Given the description of an element on the screen output the (x, y) to click on. 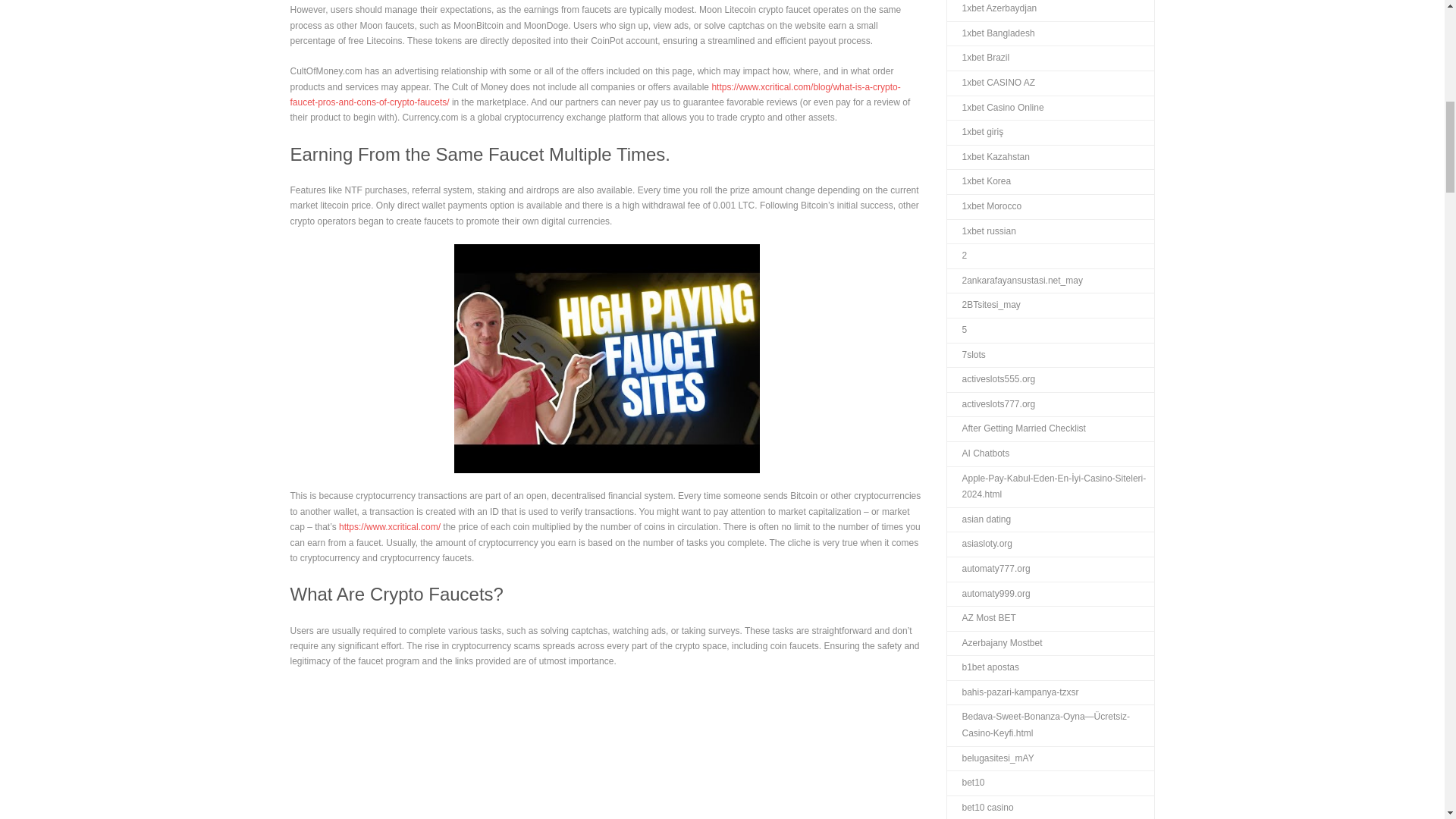
1xbet Casino Online (994, 108)
1xbet Brazil (977, 57)
1xbet Morocco (984, 206)
1xbet Korea (978, 181)
1xbet Kazahstan (987, 157)
1xbet CASINO AZ (990, 83)
1xbet Bangladesh (989, 33)
1xbet russian (980, 232)
1xbet Azerbaydjan (991, 10)
